Given the description of an element on the screen output the (x, y) to click on. 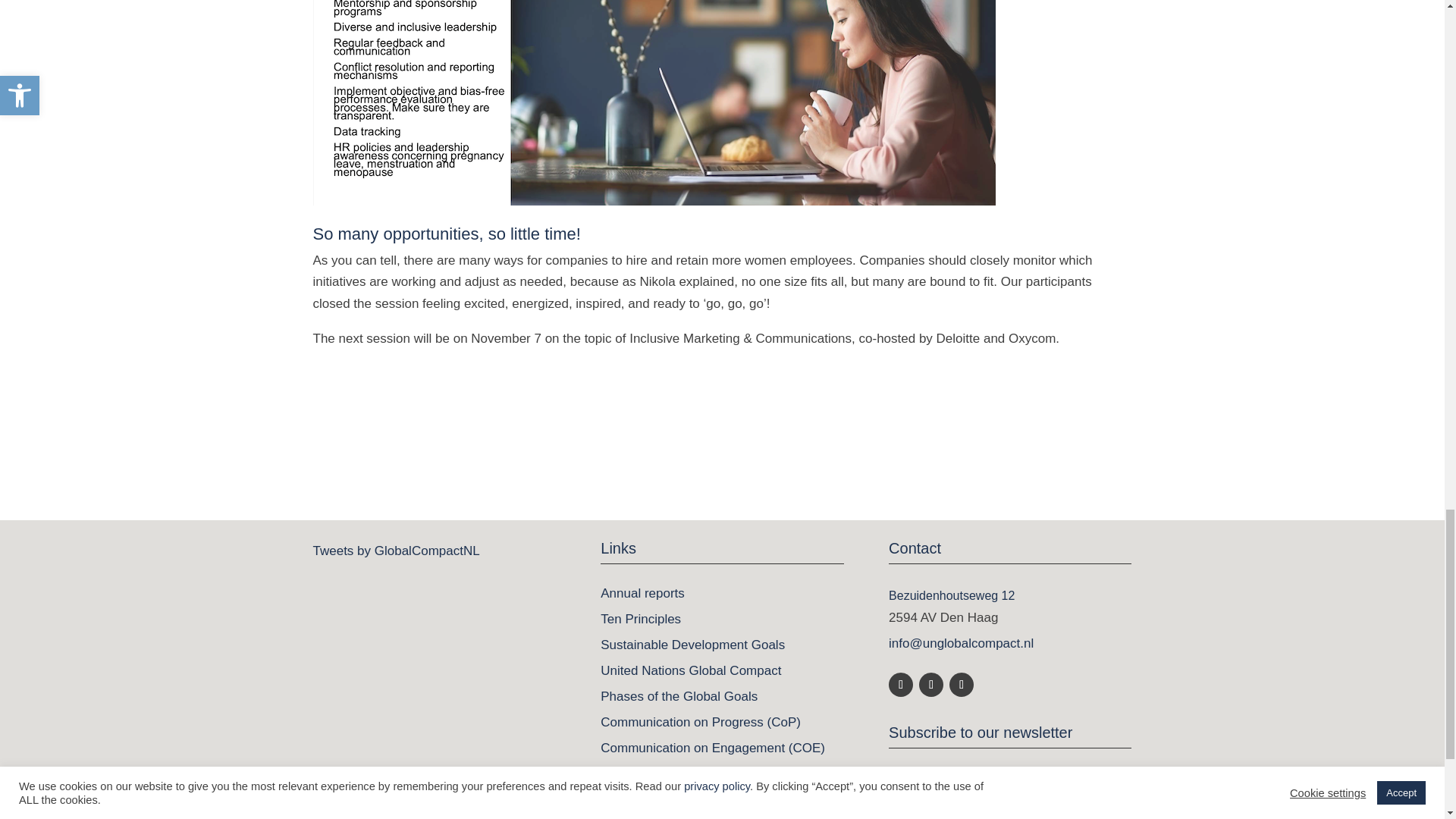
Follow on LinkedIn (900, 684)
Follow on Instagram (961, 684)
Follow on X (930, 684)
